Given the description of an element on the screen output the (x, y) to click on. 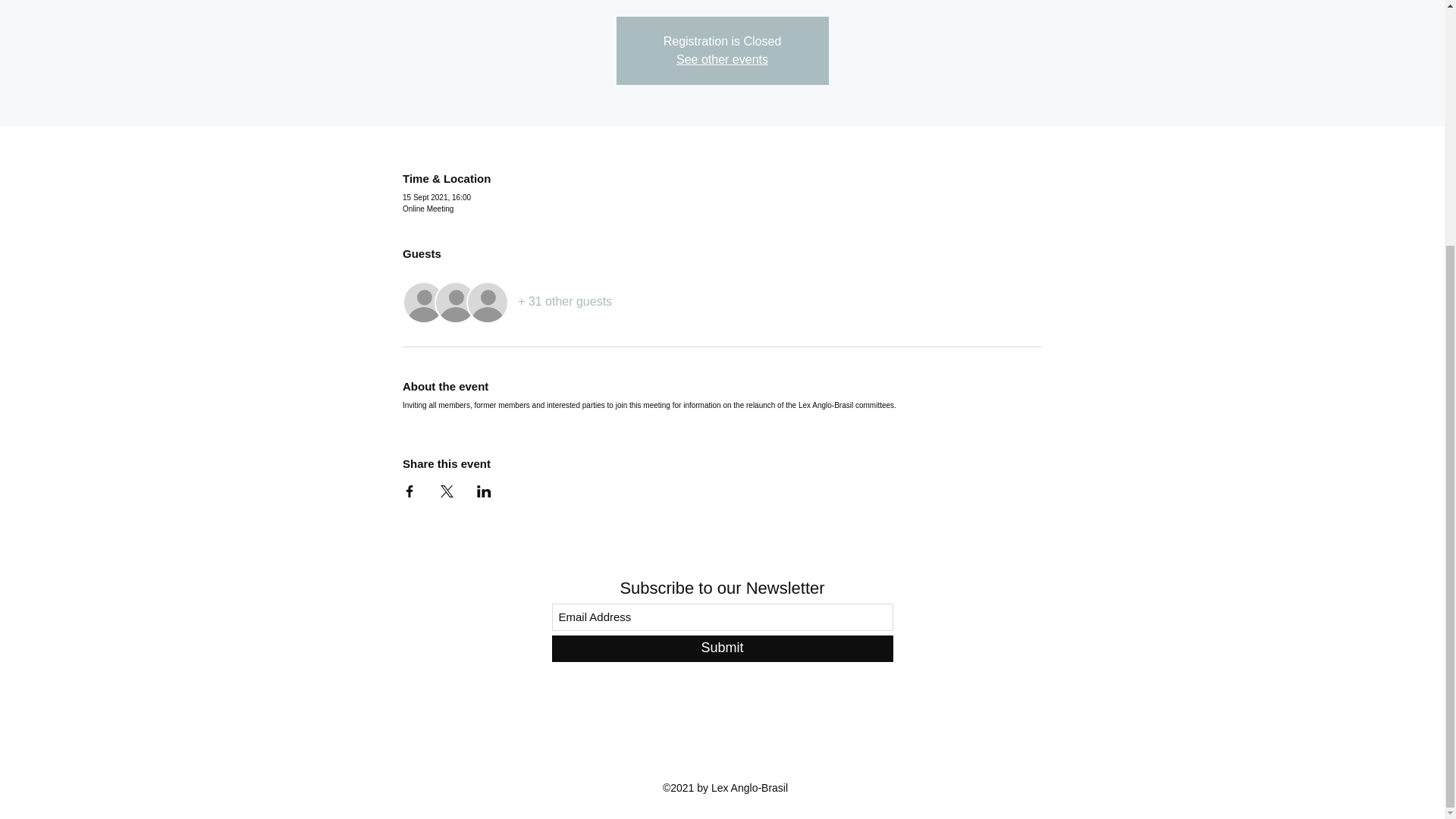
Submit (722, 648)
See other events (722, 59)
